Given the description of an element on the screen output the (x, y) to click on. 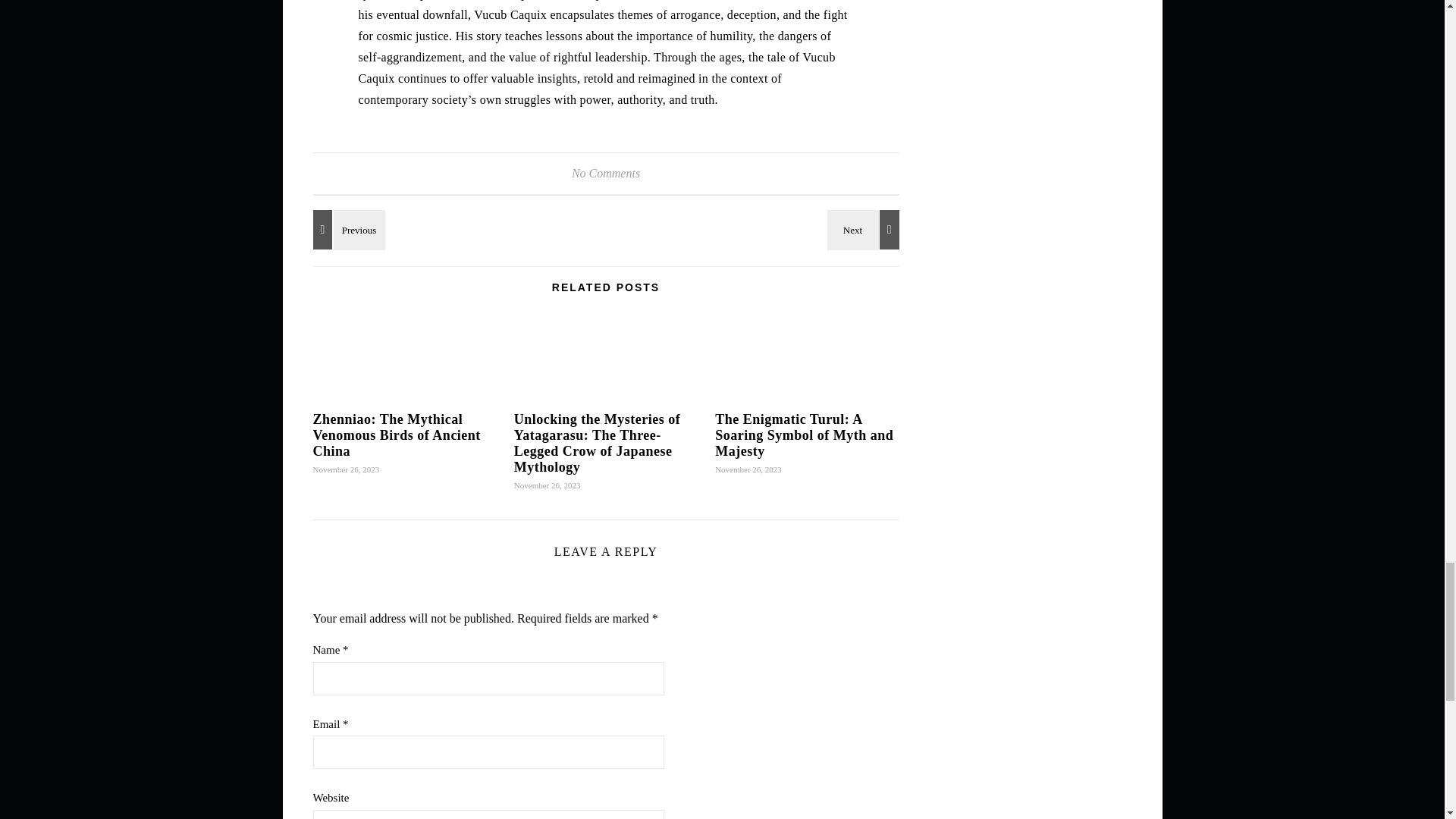
The Enigmatic Turul: A Soaring Symbol of Myth and Majesty (865, 229)
No Comments (606, 173)
